Given the description of an element on the screen output the (x, y) to click on. 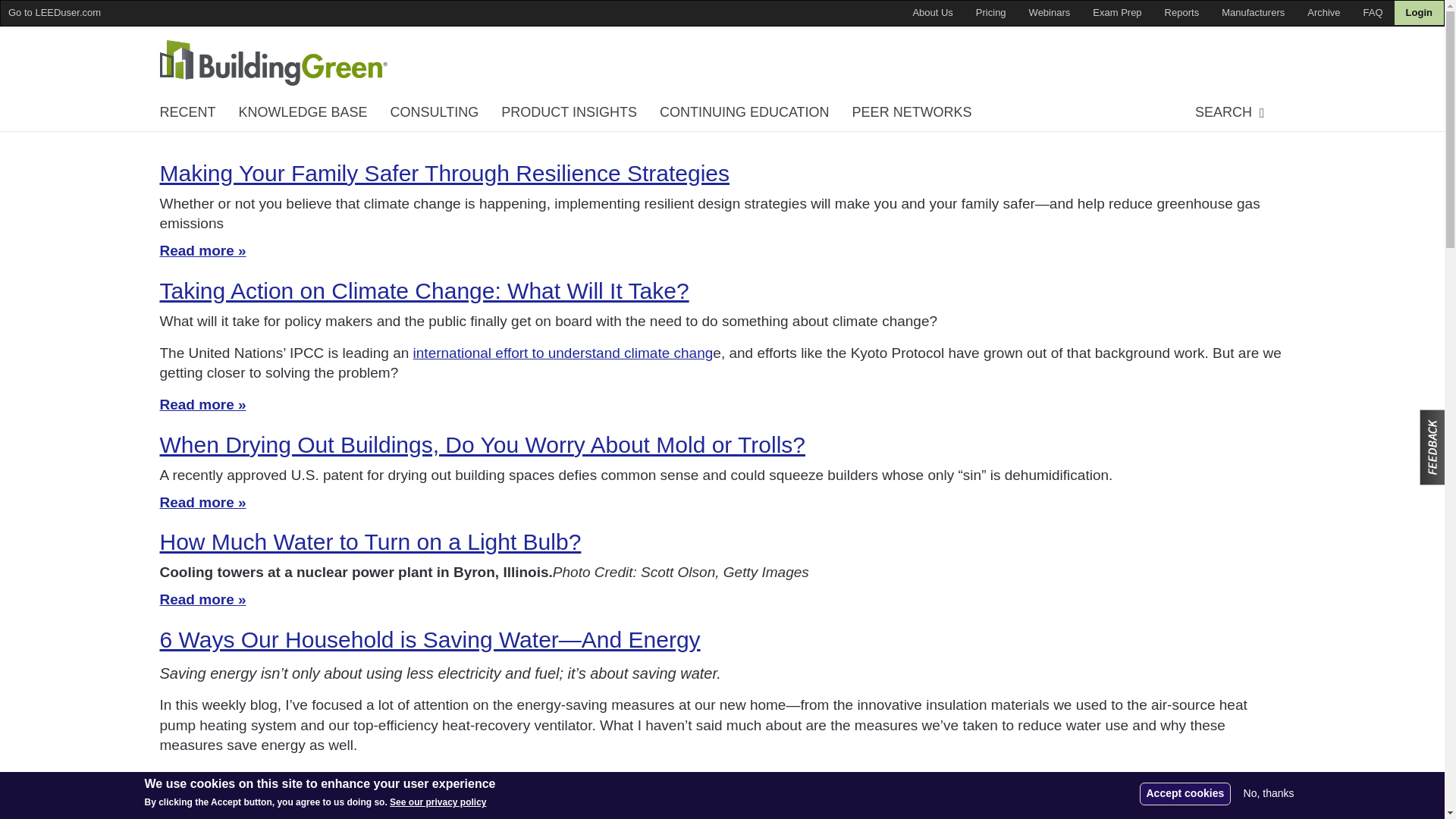
About Us (932, 12)
Pricing (990, 12)
Go to LEEDuser.com (54, 12)
